Given the description of an element on the screen output the (x, y) to click on. 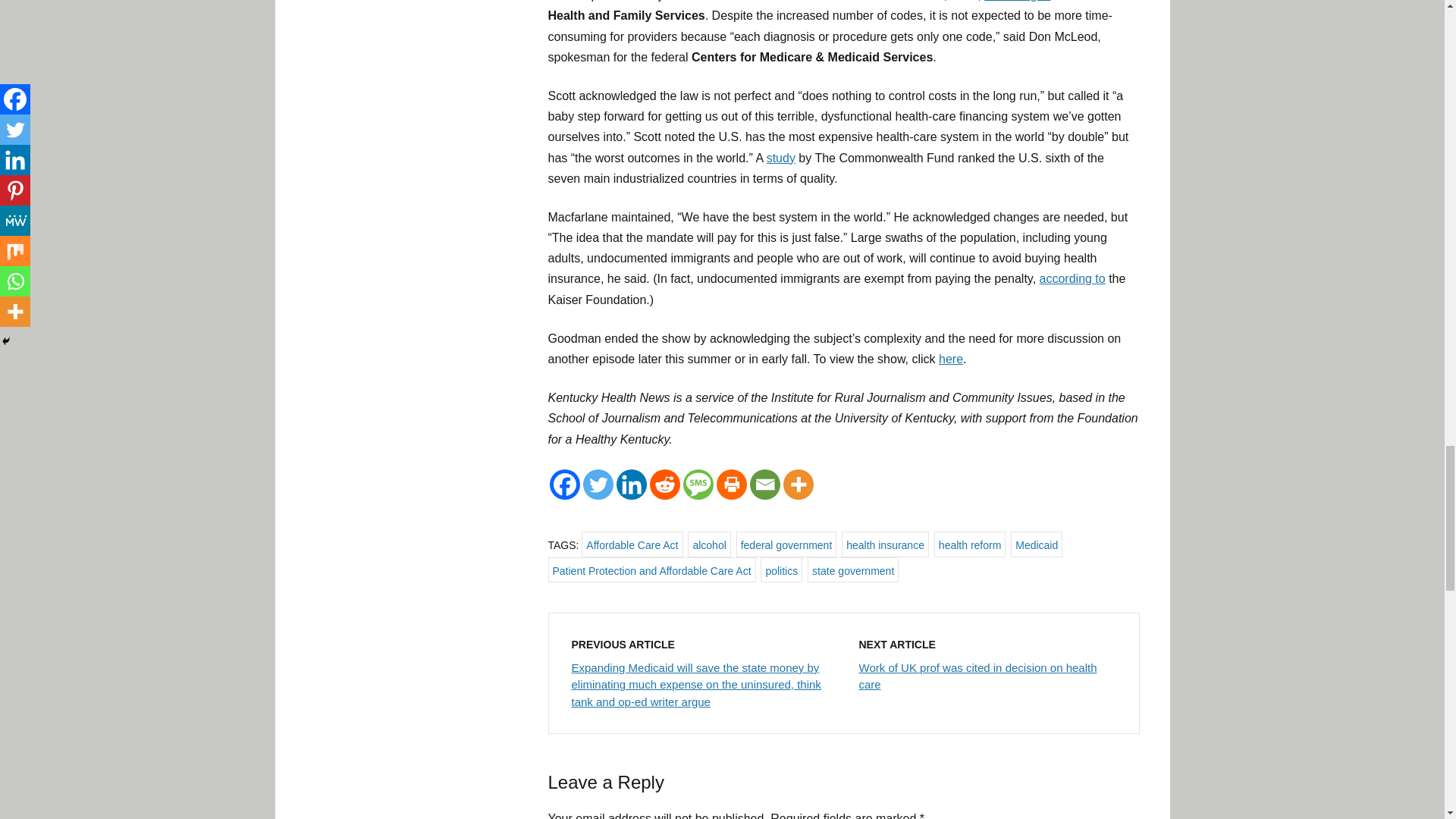
SMS (697, 484)
according to (1072, 278)
Print (730, 484)
Facebook (563, 484)
Linkedin (630, 484)
Twitter (597, 484)
study (780, 157)
here (950, 358)
More (797, 484)
according to (1016, 0)
Email (763, 484)
Reddit (664, 484)
